Given the description of an element on the screen output the (x, y) to click on. 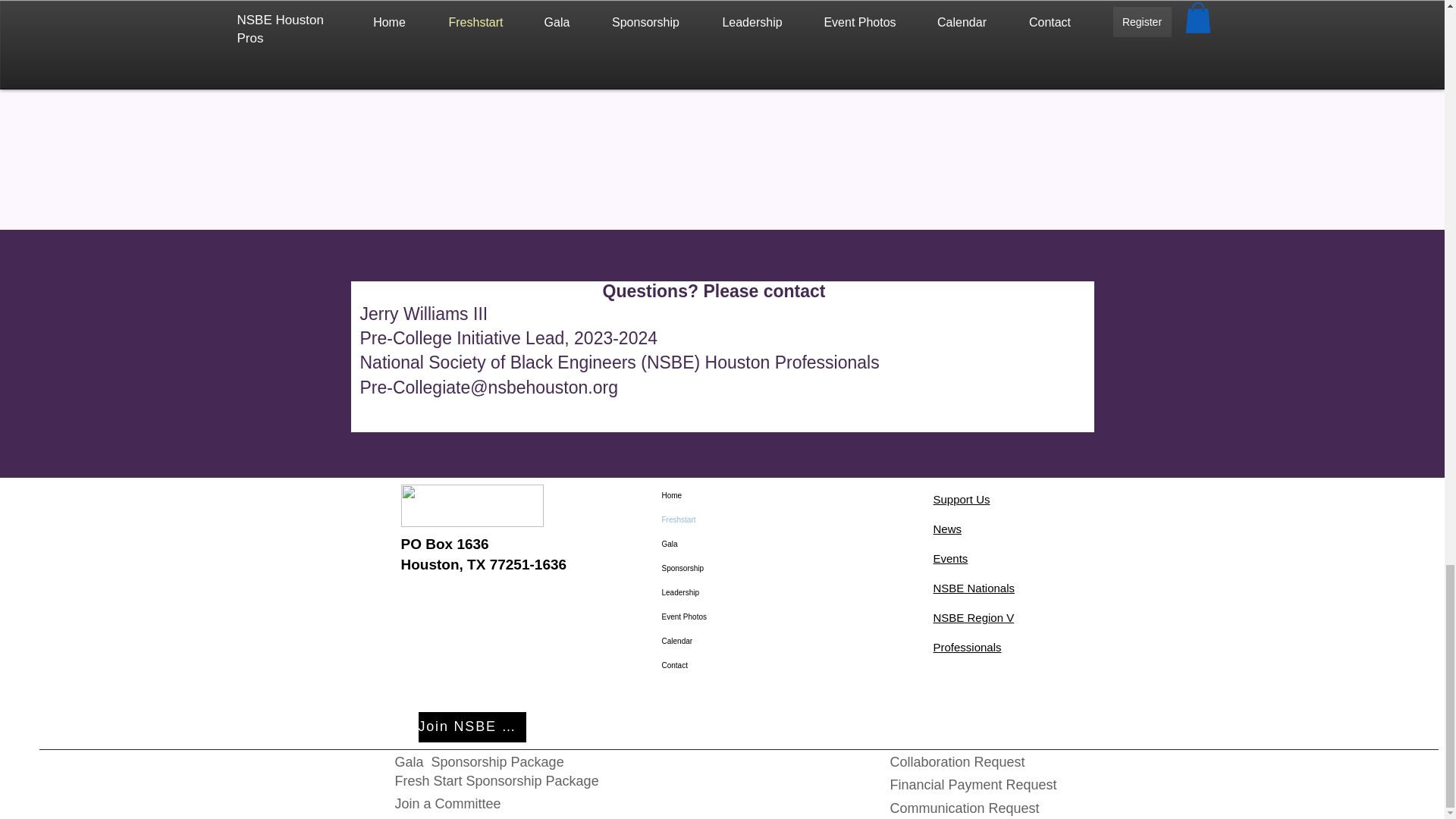
Freshstart (732, 519)
Leadership (732, 592)
Home (732, 495)
Contact (732, 665)
Gala (732, 544)
Sponsorship (732, 568)
Calendar (732, 641)
Event Photos (732, 617)
